Given the description of an element on the screen output the (x, y) to click on. 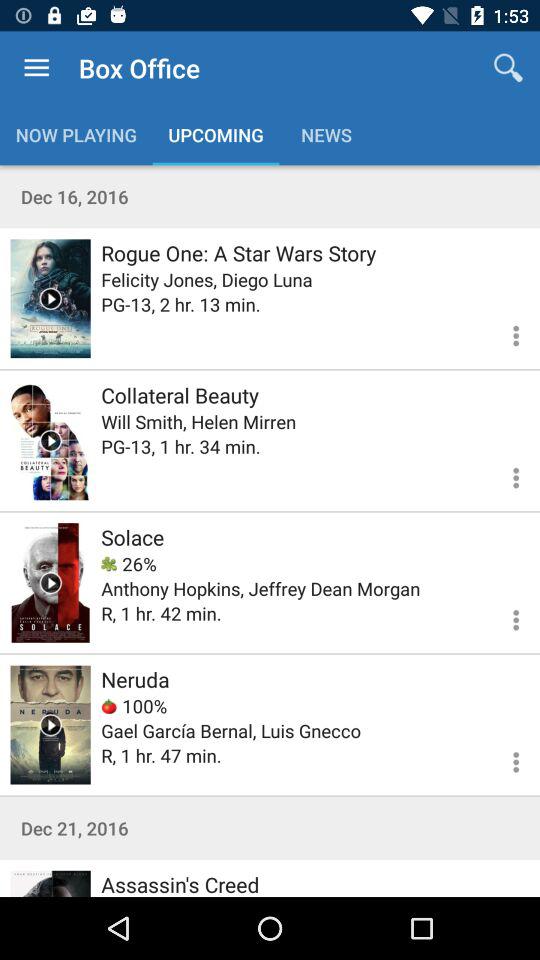
open icon below 100% icon (231, 730)
